Given the description of an element on the screen output the (x, y) to click on. 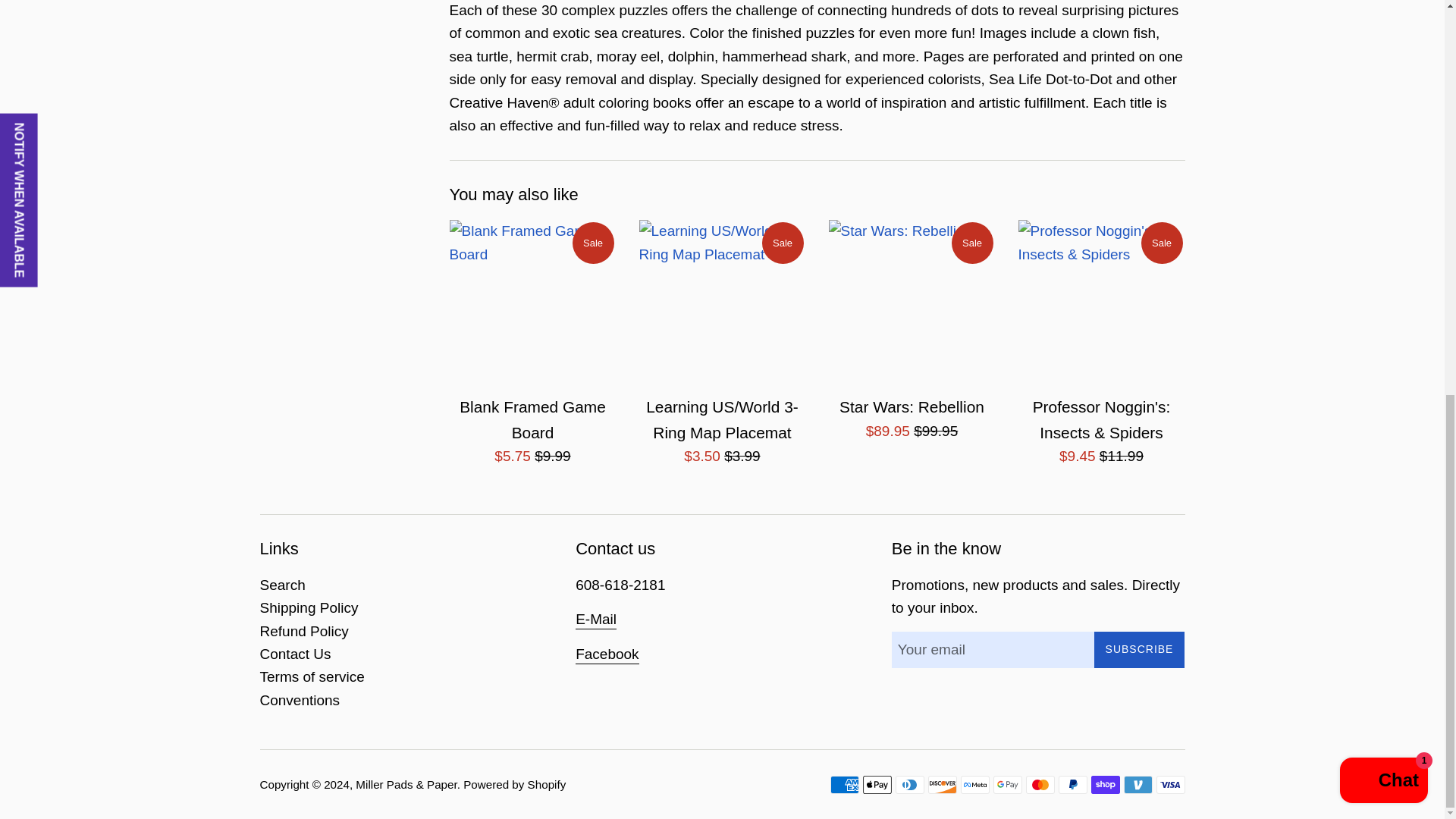
Diners Club (909, 784)
Meta Pay (973, 784)
PayPal (1072, 784)
Shop Pay (1104, 784)
Blank Framed Game Board (531, 303)
Shopify online store chat (1383, 22)
Visa (1170, 784)
Mastercard (1039, 784)
Venmo (1138, 784)
Apple Pay (877, 784)
Google Pay (1007, 784)
Discover (942, 784)
American Express (844, 784)
Star Wars: Rebellion (911, 303)
